Given the description of an element on the screen output the (x, y) to click on. 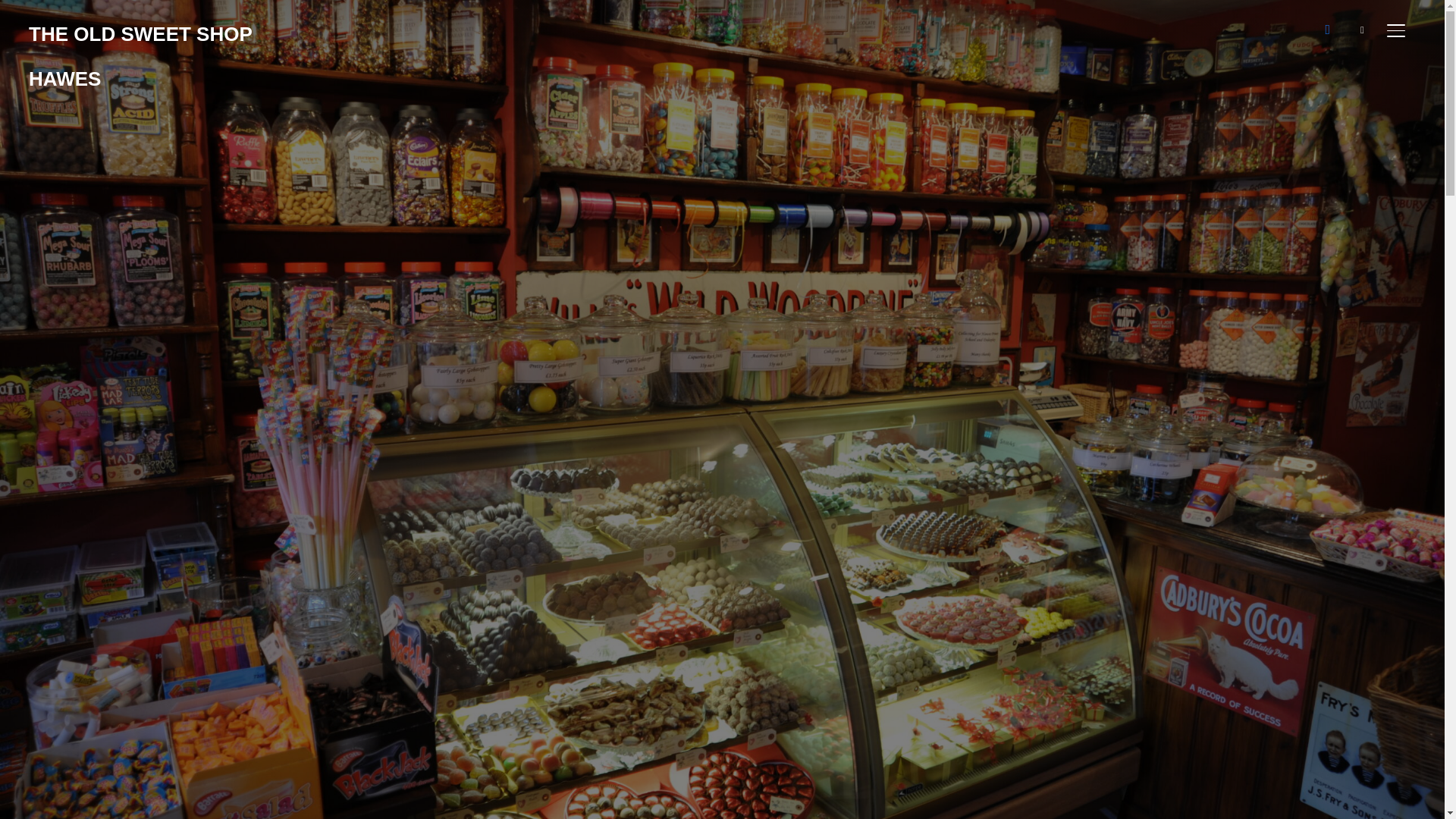
Facebook (1327, 28)
A Traditional Sweet Shop Based in the Yorkshire Dales (140, 56)
Search (15, 15)
THE OLD SWEET SHOP HAWES (140, 56)
